Given the description of an element on the screen output the (x, y) to click on. 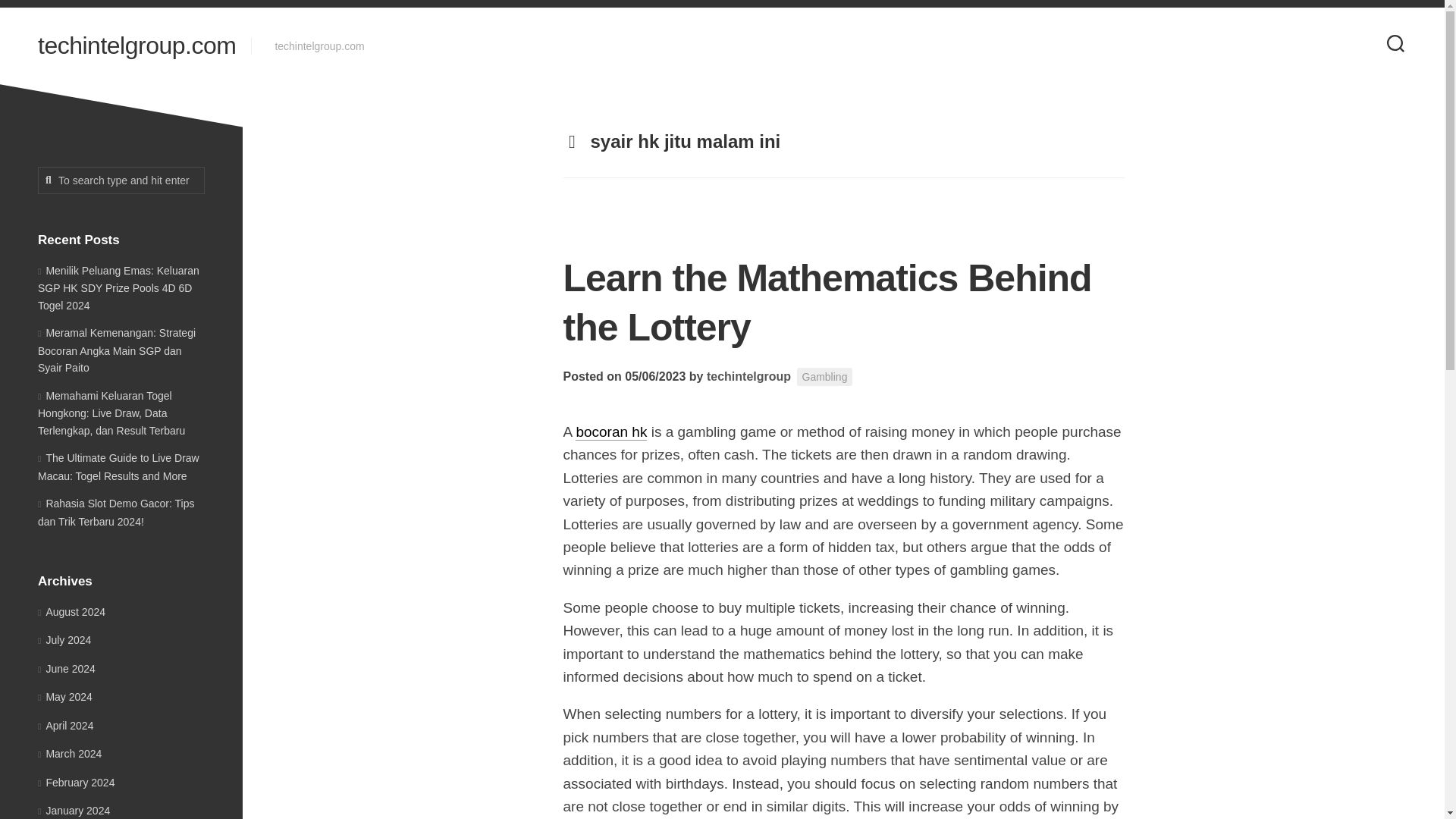
January 2024 (73, 810)
August 2024 (70, 611)
techintelgroup (748, 376)
May 2024 (65, 696)
June 2024 (66, 668)
To search type and hit enter (121, 180)
April 2024 (65, 725)
